Given the description of an element on the screen output the (x, y) to click on. 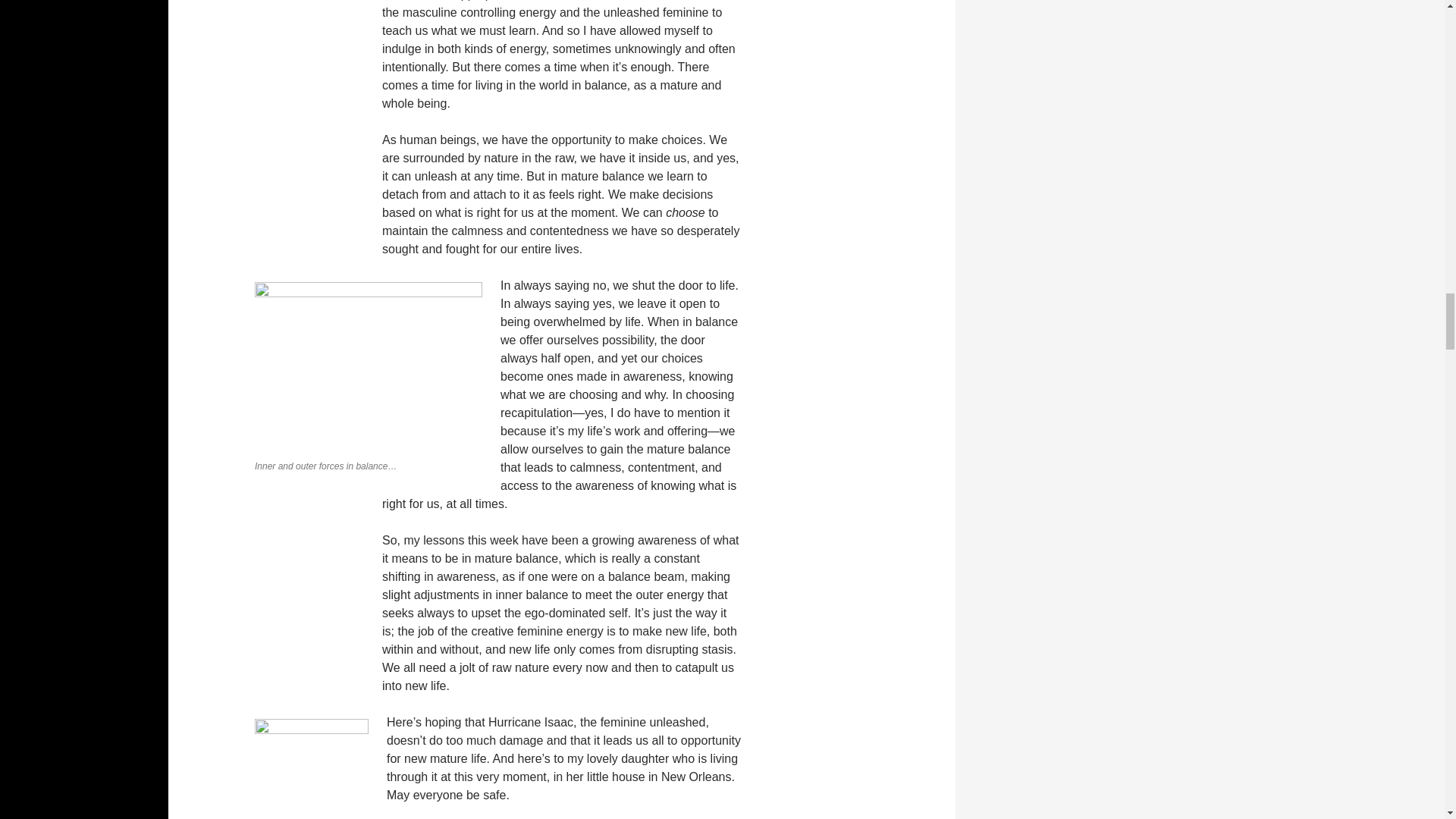
Photo by Jan (367, 366)
Photo by Chuck (311, 769)
